Given the description of an element on the screen output the (x, y) to click on. 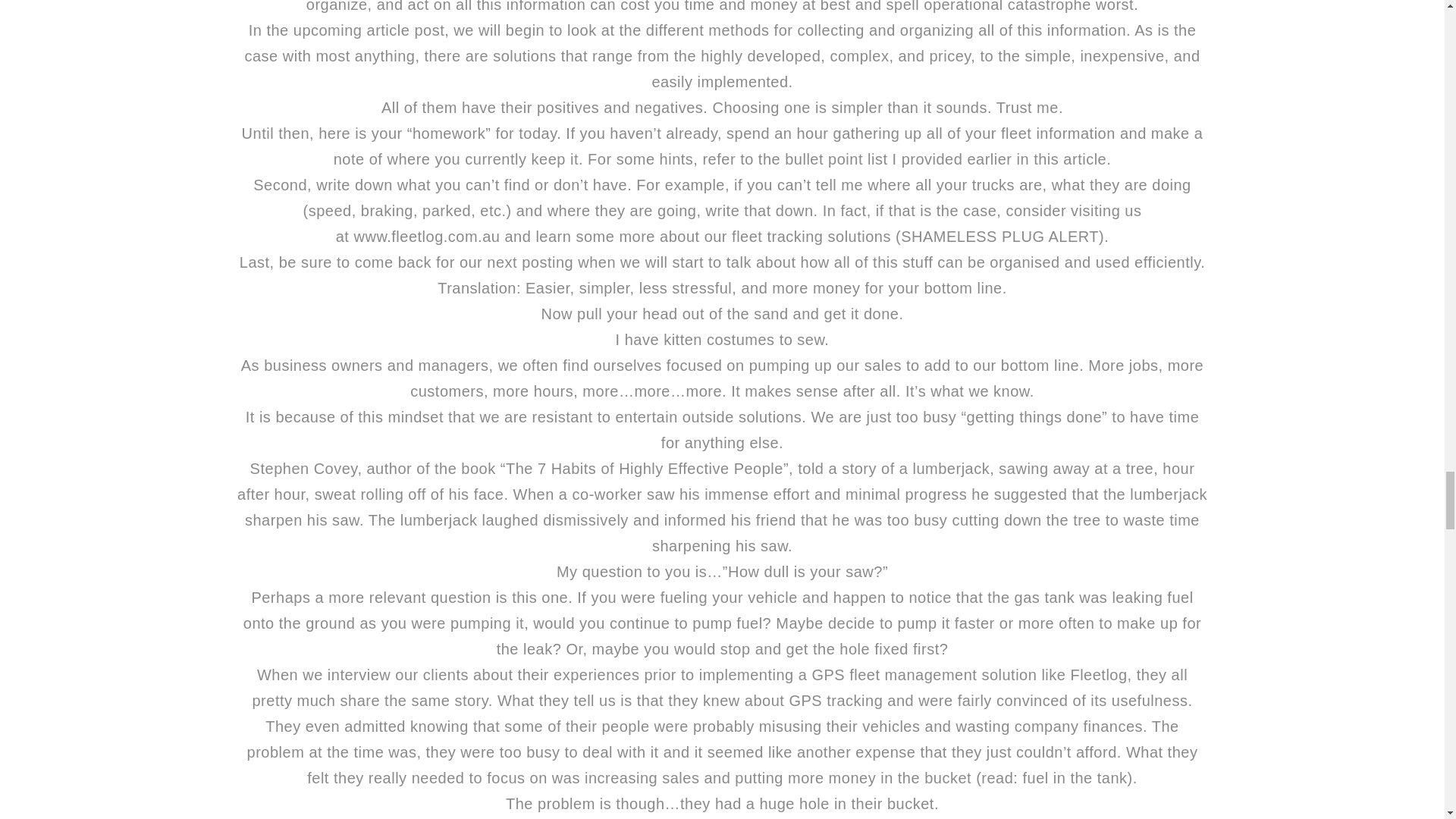
www.fleetlog.com.au (426, 236)
